Given the description of an element on the screen output the (x, y) to click on. 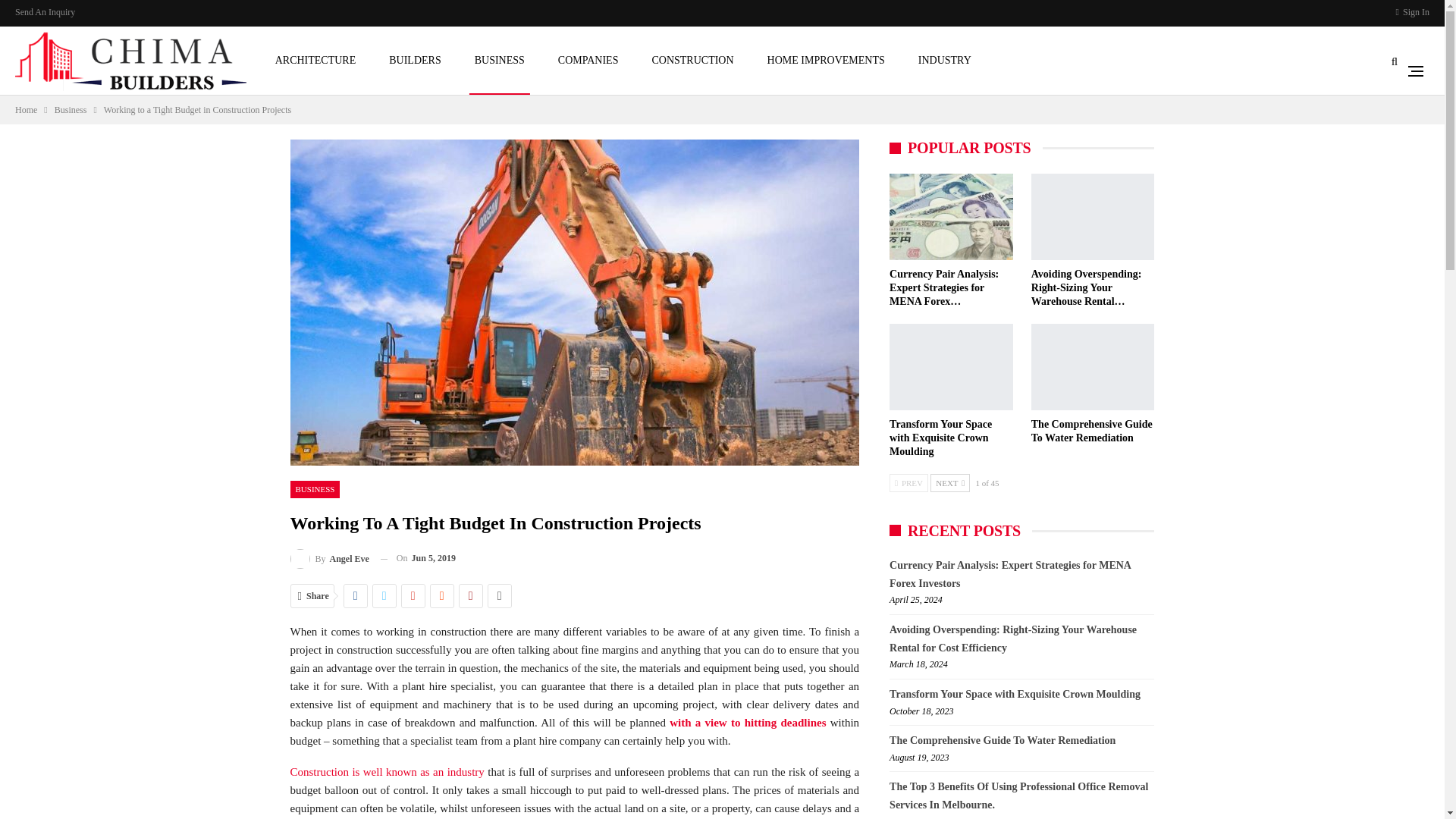
Construction is well known as an industry (386, 771)
Browse Author Articles (328, 557)
COMPANIES (588, 60)
HOME IMPROVEMENTS (825, 60)
BUILDERS (414, 60)
By Angel Eve (328, 557)
Sign In (1412, 12)
INDUSTRY (944, 60)
CONSTRUCTION (692, 60)
Home (25, 109)
Send An Inquiry (44, 11)
Business (71, 109)
BUSINESS (314, 488)
with a view to hitting deadlines (747, 722)
